Given the description of an element on the screen output the (x, y) to click on. 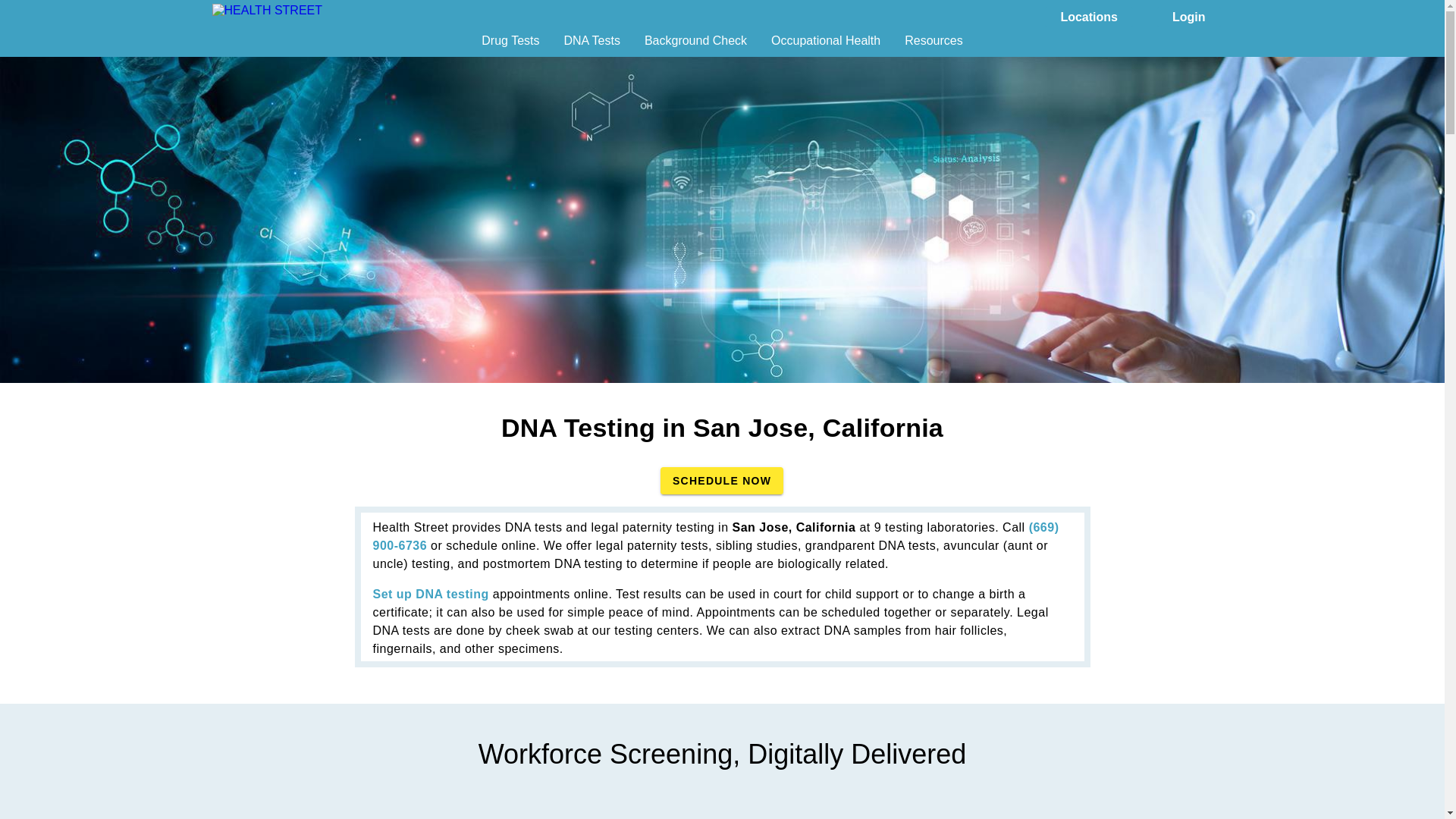
Occupational Health (825, 46)
Locations (1088, 15)
Schedule DNA testing (430, 594)
Background Check (695, 46)
HEALTH STREET (292, 17)
DNA Tests (592, 46)
Drug Tests (509, 46)
Schedule a DNA Test in  San Jose, California (722, 480)
Login (1189, 15)
